Given the description of an element on the screen output the (x, y) to click on. 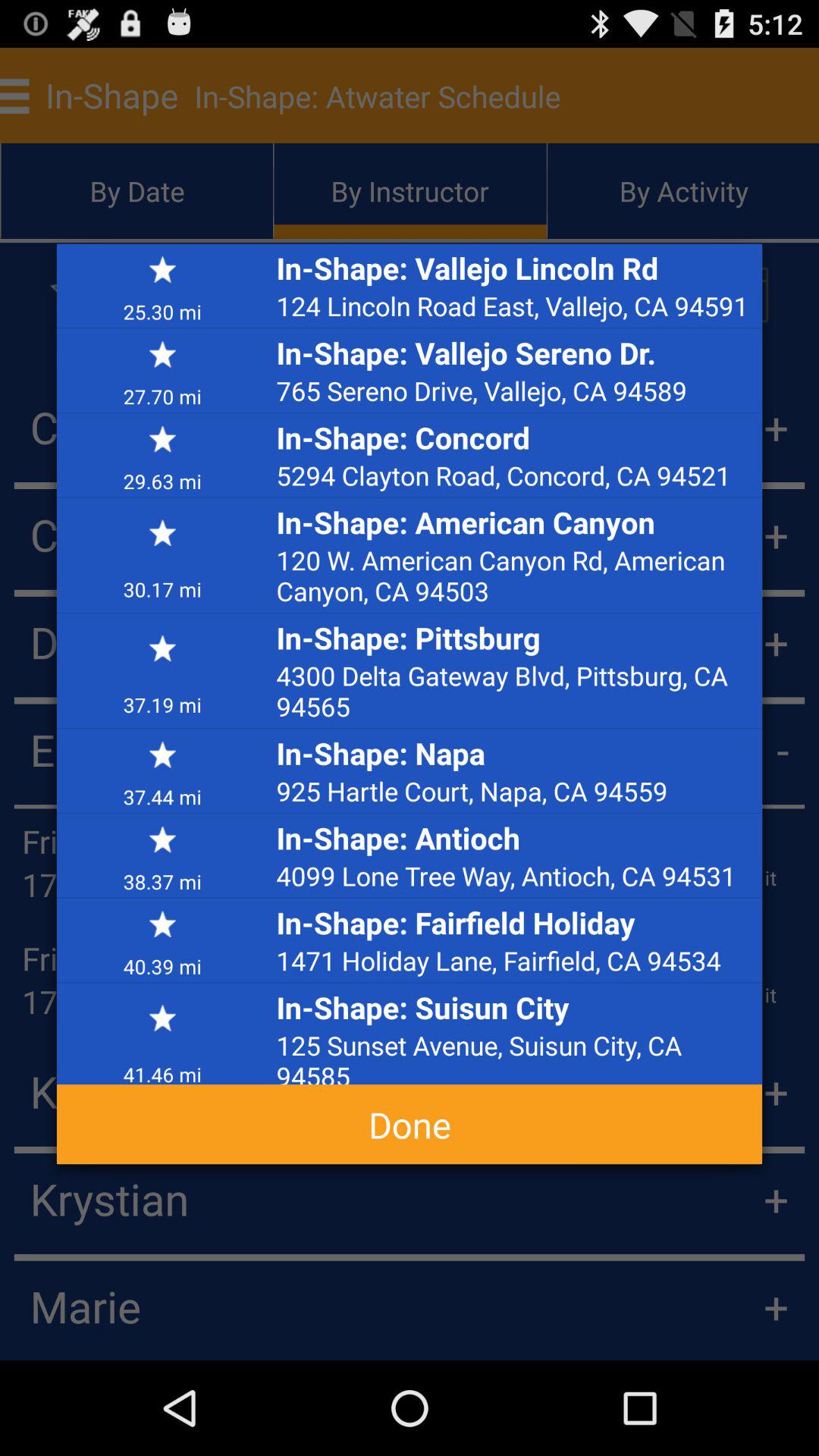
jump to 4099 lone tree app (515, 875)
